Given the description of an element on the screen output the (x, y) to click on. 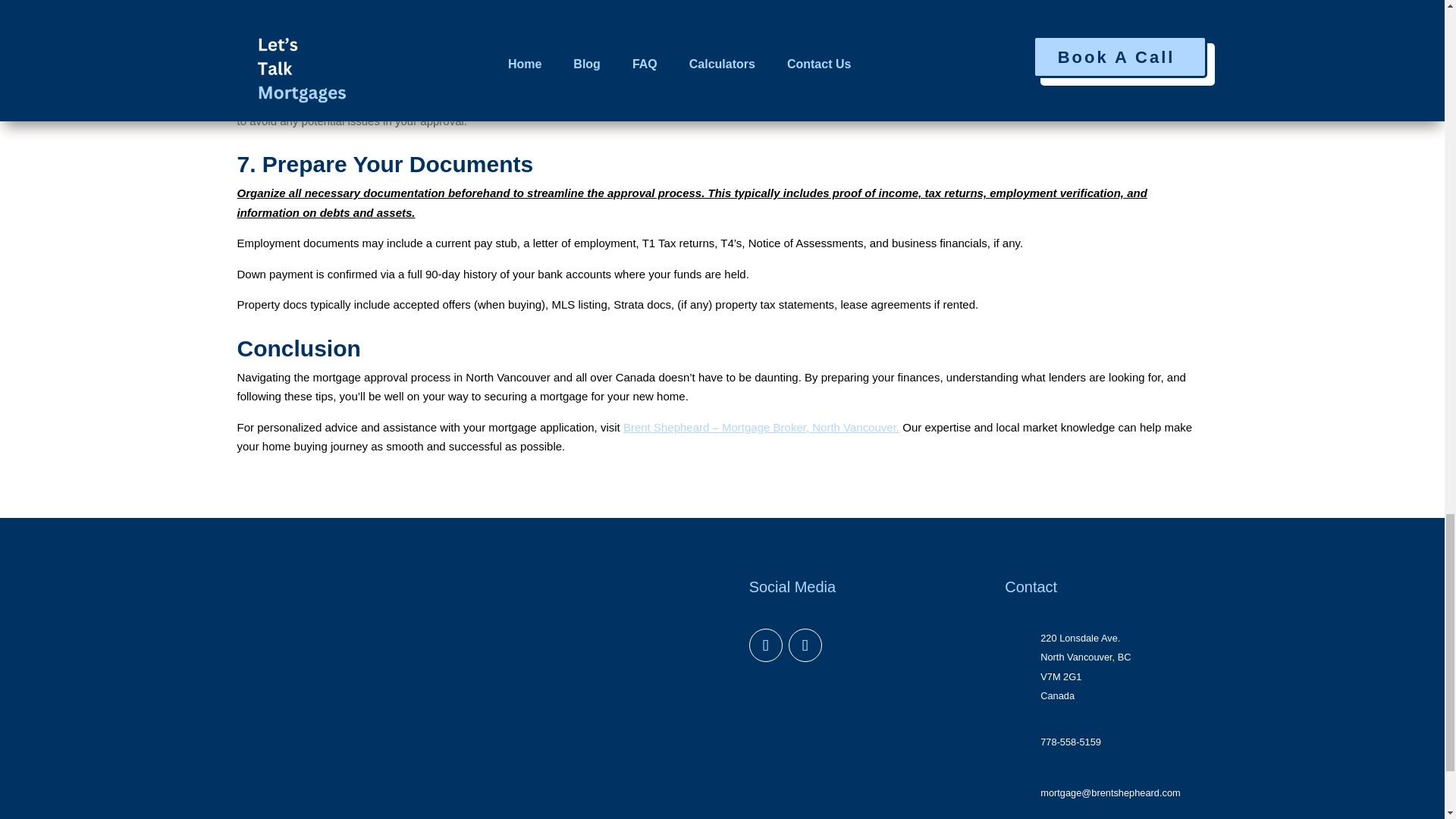
Follow on Facebook (766, 644)
Follow on Instagram (805, 644)
DLC Mortgage (594, 663)
Brent Shepheard Mortgages (337, 777)
